Given the description of an element on the screen output the (x, y) to click on. 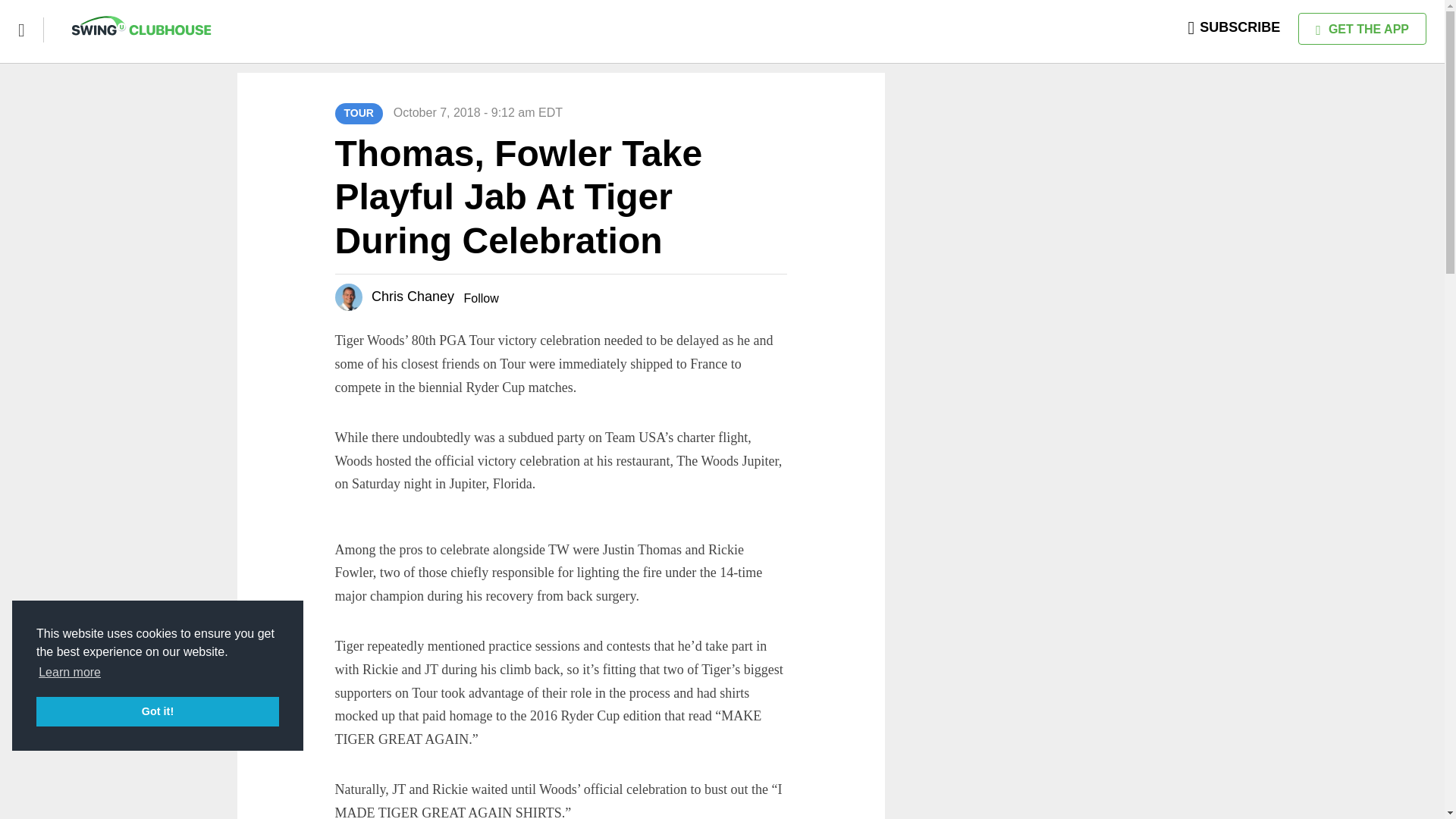
GET THE APP (1362, 29)
SUBSCRIBE (1234, 27)
Follow (480, 297)
Learn more (69, 671)
Chris Chaney (412, 296)
Got it! (157, 711)
